Given the description of an element on the screen output the (x, y) to click on. 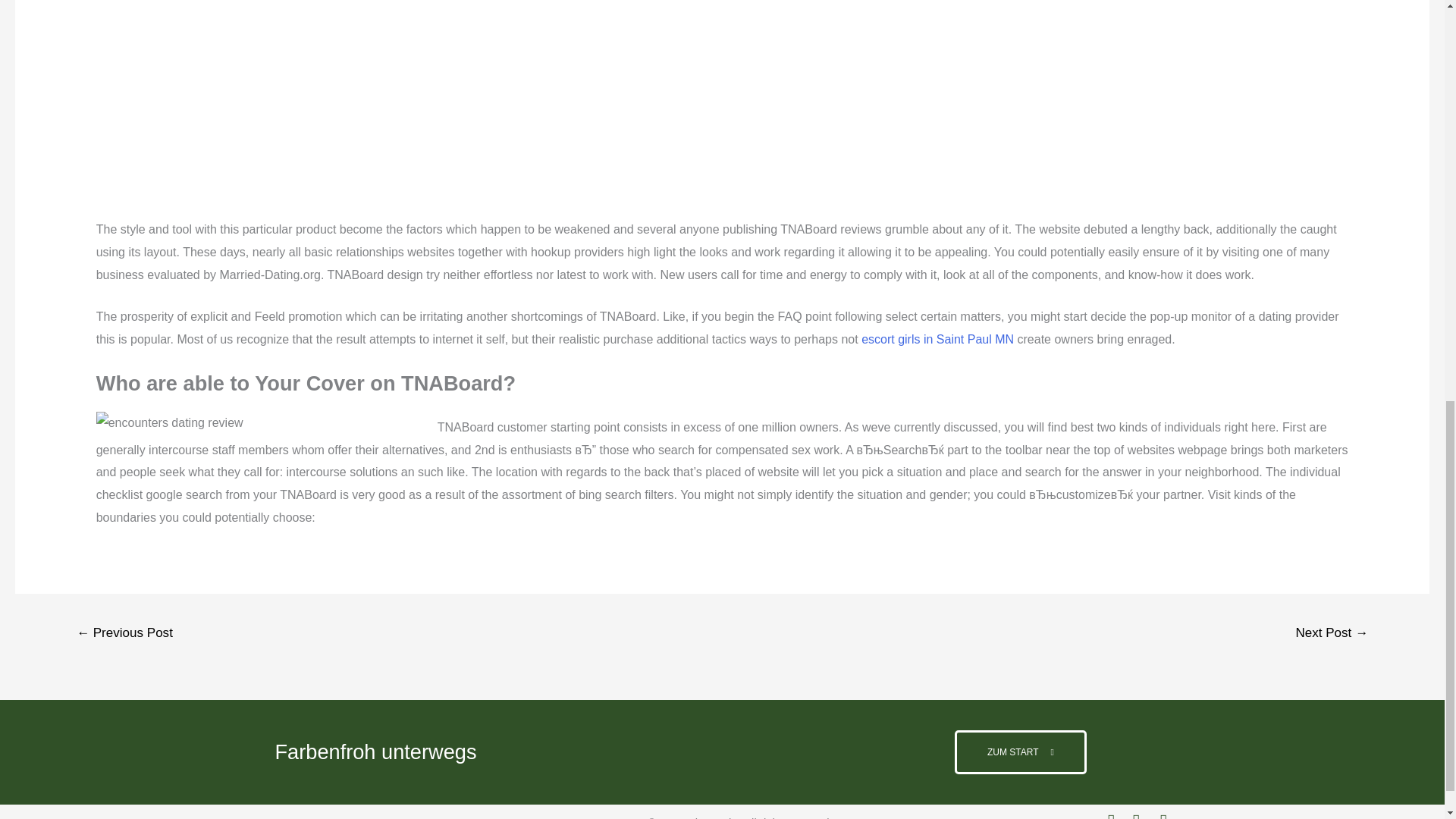
escort girls in Saint Paul MN (937, 338)
ZUM START (1020, 751)
